Given the description of an element on the screen output the (x, y) to click on. 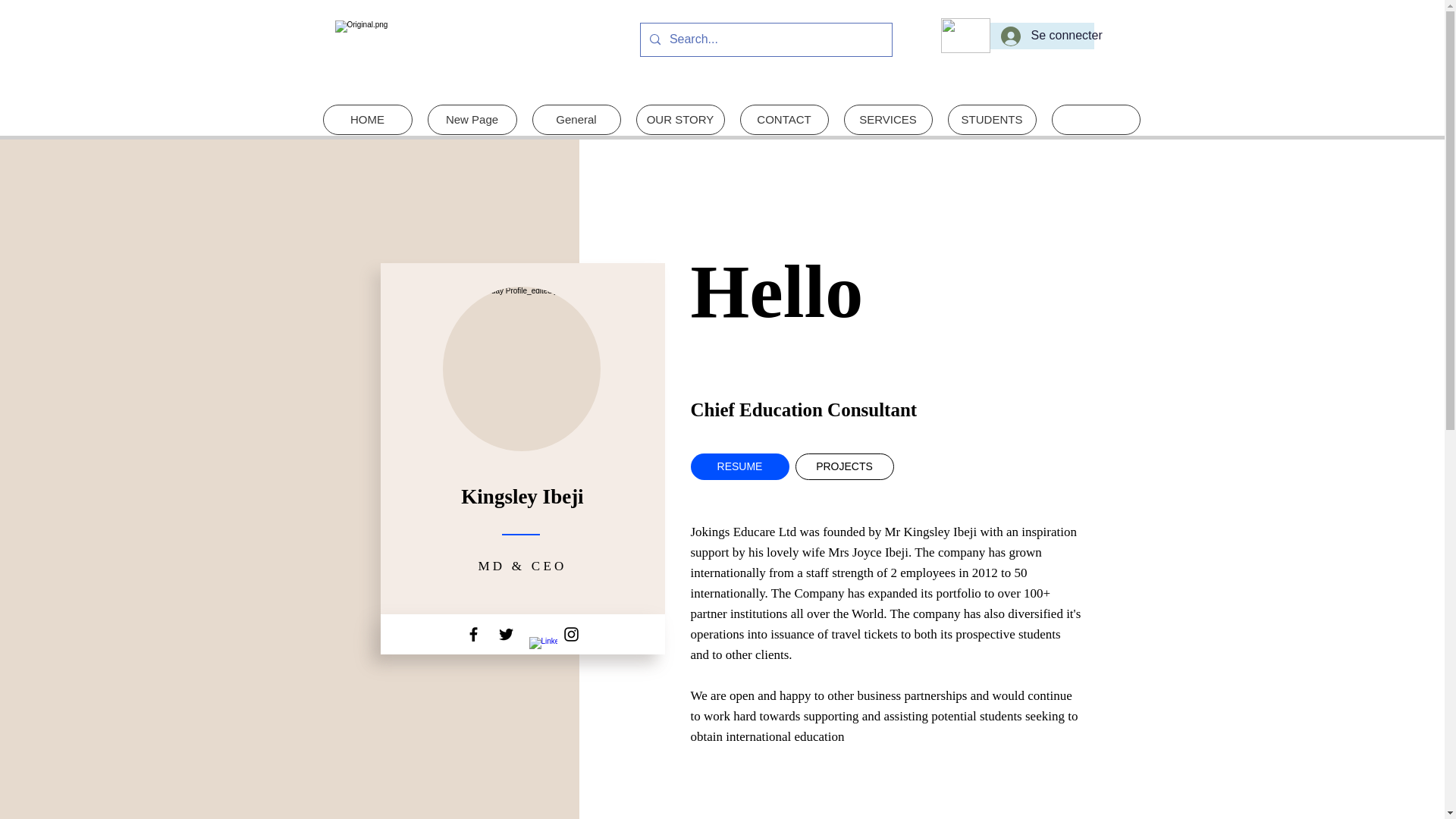
OUR STORY (678, 119)
New Page (472, 119)
General (576, 119)
HOME (367, 119)
SERVICES (887, 119)
INVOICE Logo.jpg (443, 52)
Se connecter (1042, 35)
STUDENTS (991, 119)
CONTACT (783, 119)
